Given the description of an element on the screen output the (x, y) to click on. 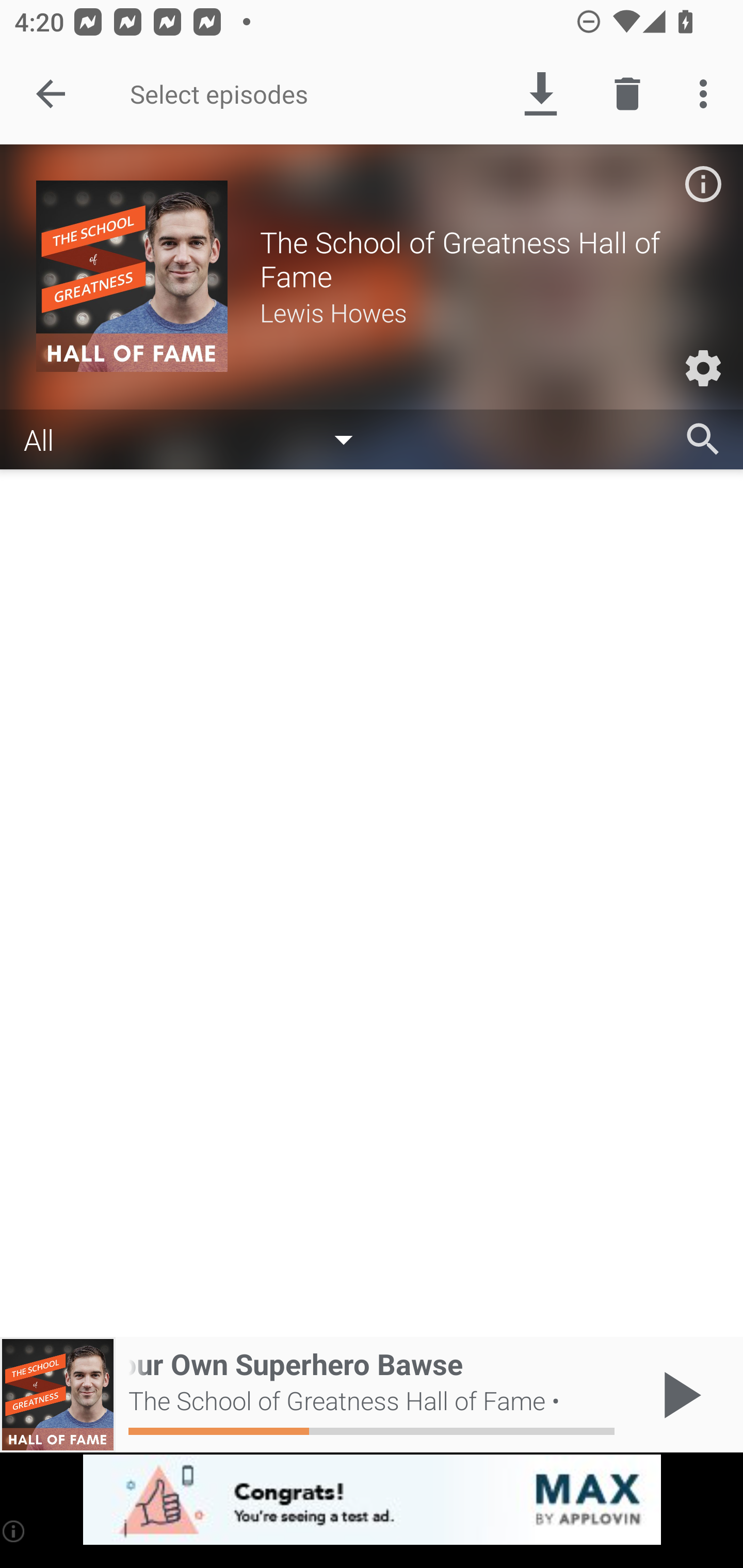
Done (50, 93)
Download (540, 93)
Delete episode (626, 93)
More options (706, 93)
Podcast description (703, 184)
Lewis Howes (483, 311)
Custom Settings (703, 368)
Search (703, 439)
All (197, 438)
Play / Pause (677, 1394)
app-monetization (371, 1500)
(i) (14, 1531)
